Given the description of an element on the screen output the (x, y) to click on. 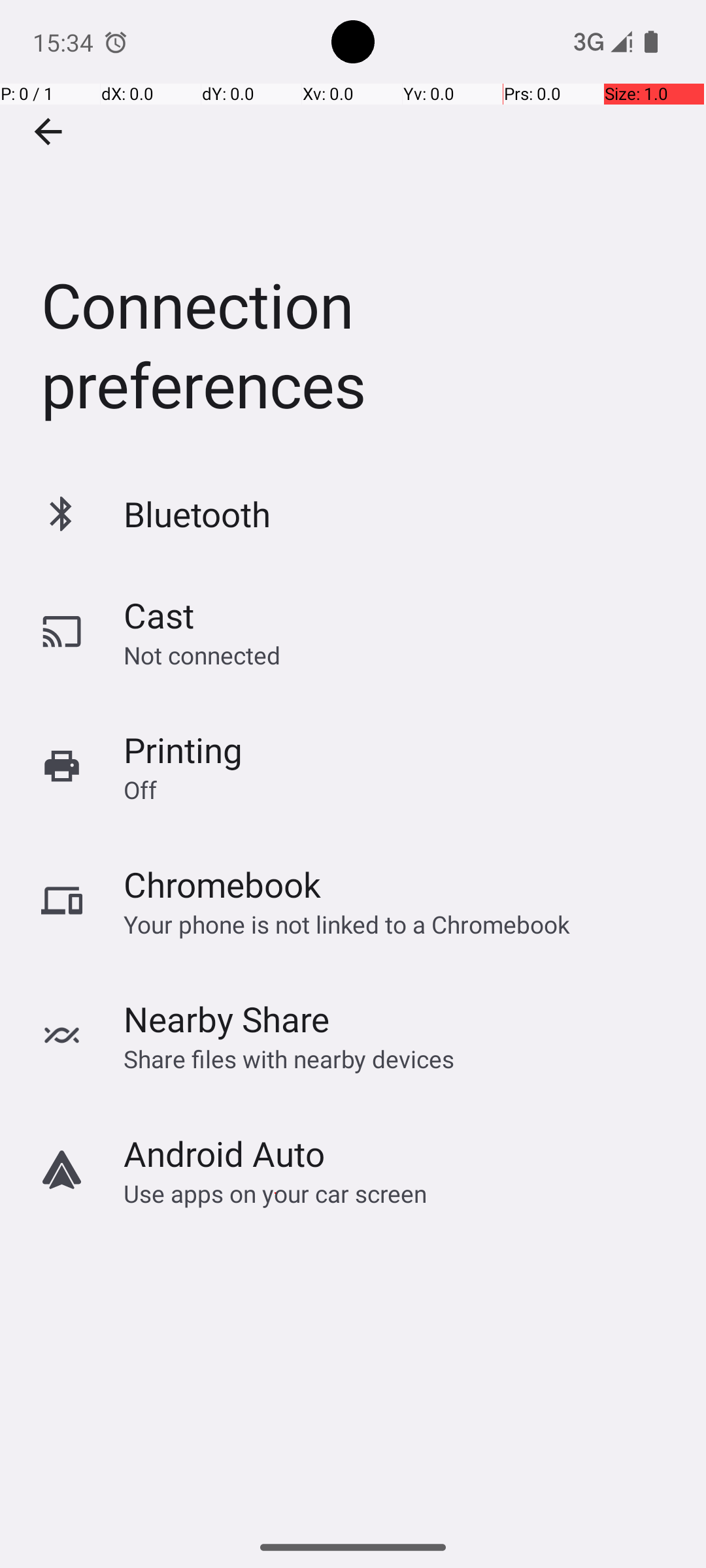
Bluetooth Element type: android.widget.TextView (197, 513)
Cast Element type: android.widget.TextView (158, 614)
Not connected Element type: android.widget.TextView (201, 654)
Printing Element type: android.widget.TextView (182, 749)
Chromebook Element type: android.widget.TextView (222, 884)
Your phone is not linked to a Chromebook Element type: android.widget.TextView (346, 923)
Nearby Share Element type: android.widget.TextView (226, 1018)
Share files with nearby devices Element type: android.widget.TextView (288, 1058)
Use apps on your car screen Element type: android.widget.TextView (275, 1192)
